Given the description of an element on the screen output the (x, y) to click on. 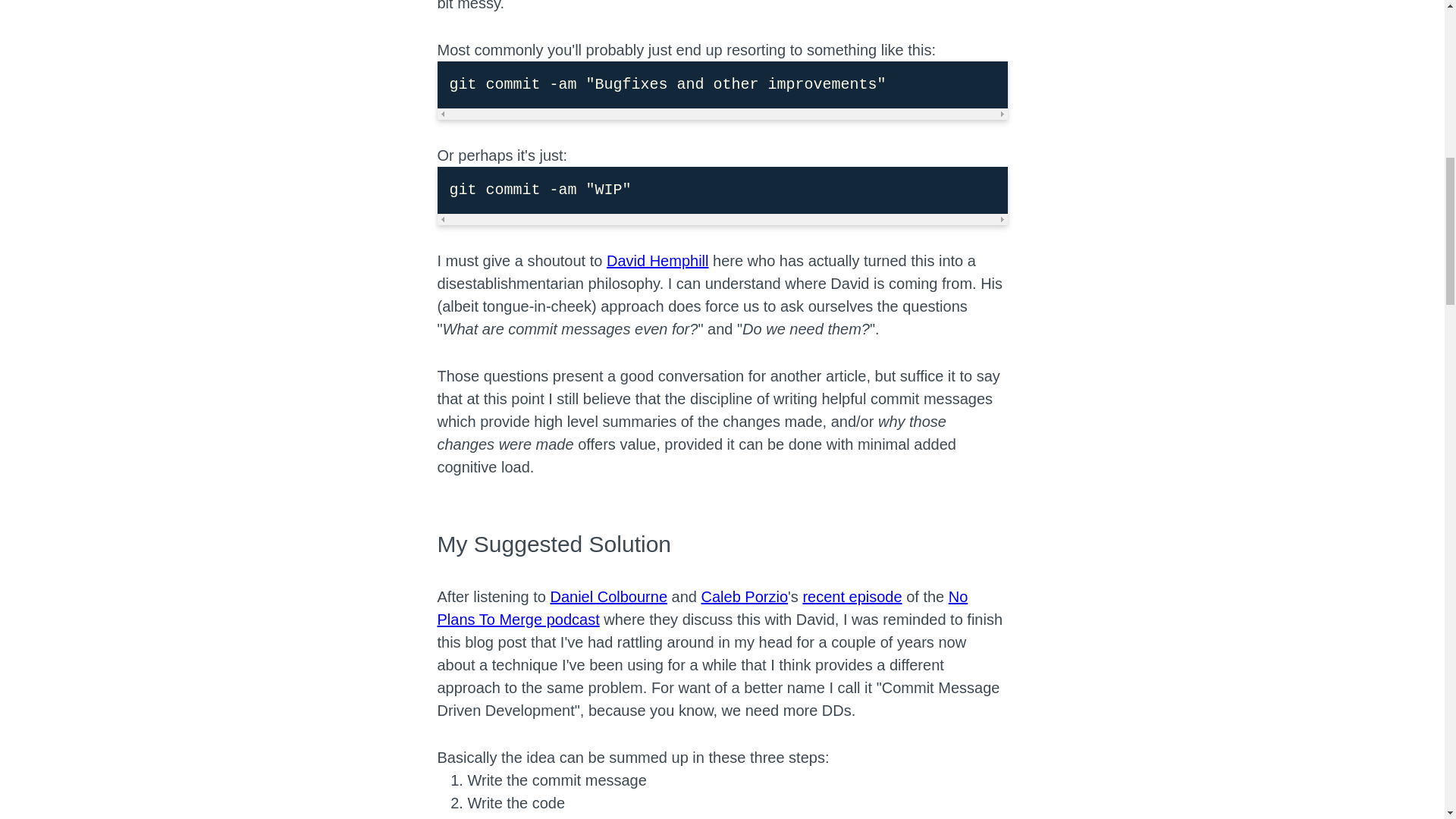
No Plans To Merge podcast (702, 608)
recent episode (851, 596)
David Hemphill (658, 260)
Daniel Colbourne (608, 596)
Caleb Porzio (743, 596)
